Given the description of an element on the screen output the (x, y) to click on. 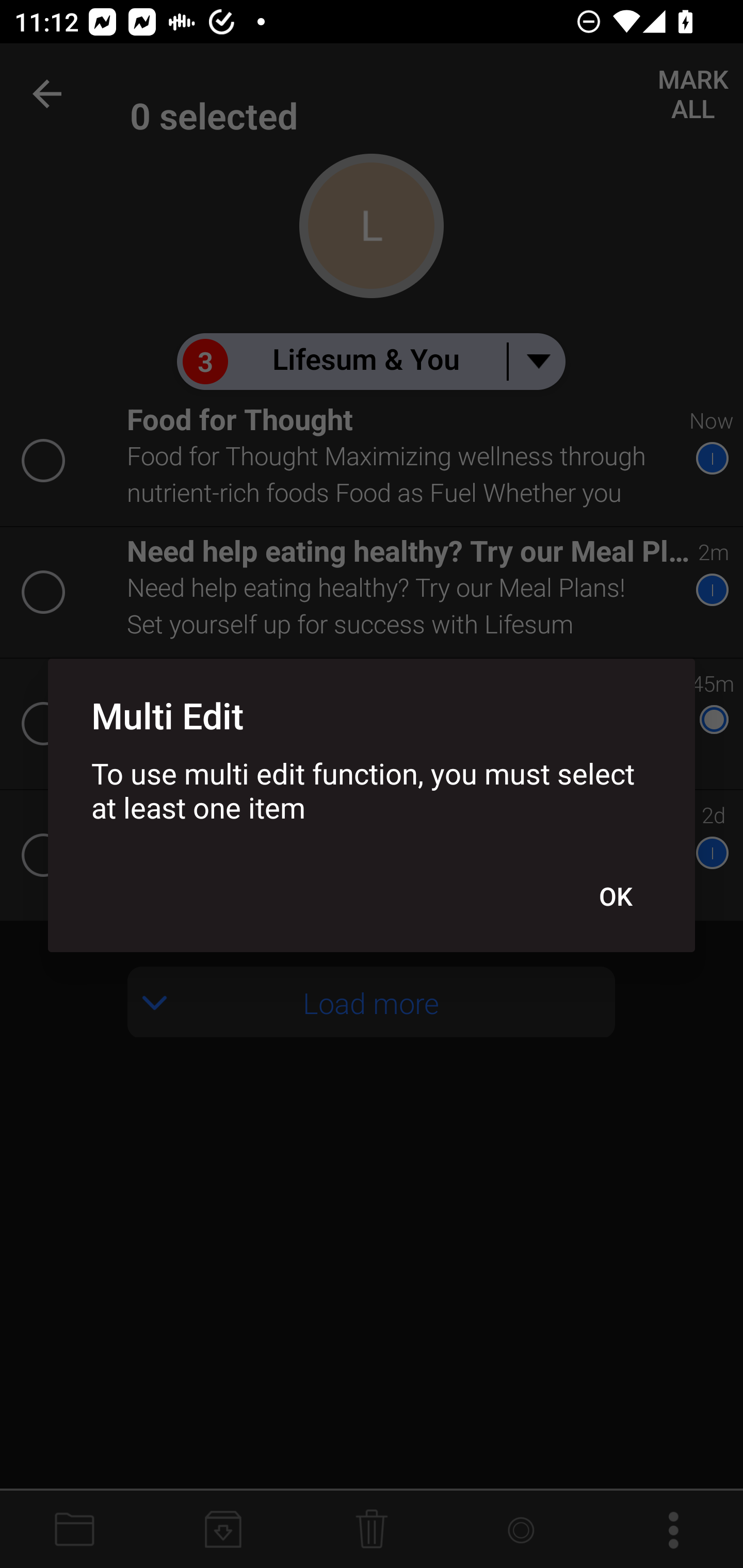
OK (615, 895)
